Given the description of an element on the screen output the (x, y) to click on. 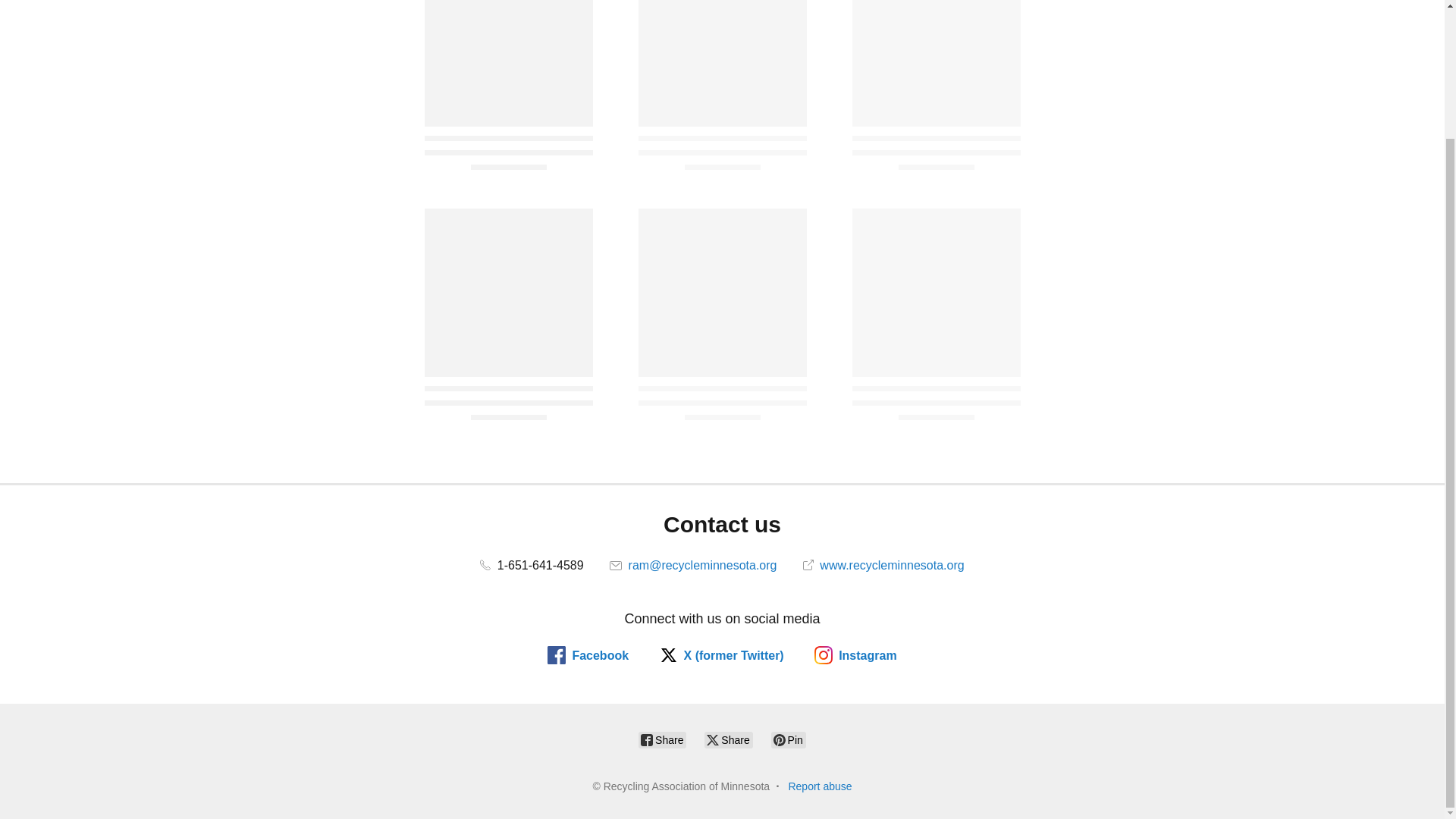
Share (662, 740)
Facebook (587, 655)
Instagram (854, 655)
www.recycleminnesota.org (883, 564)
Report abuse (819, 786)
Pin (788, 740)
Share (728, 740)
1-651-641-4589 (531, 564)
